Given the description of an element on the screen output the (x, y) to click on. 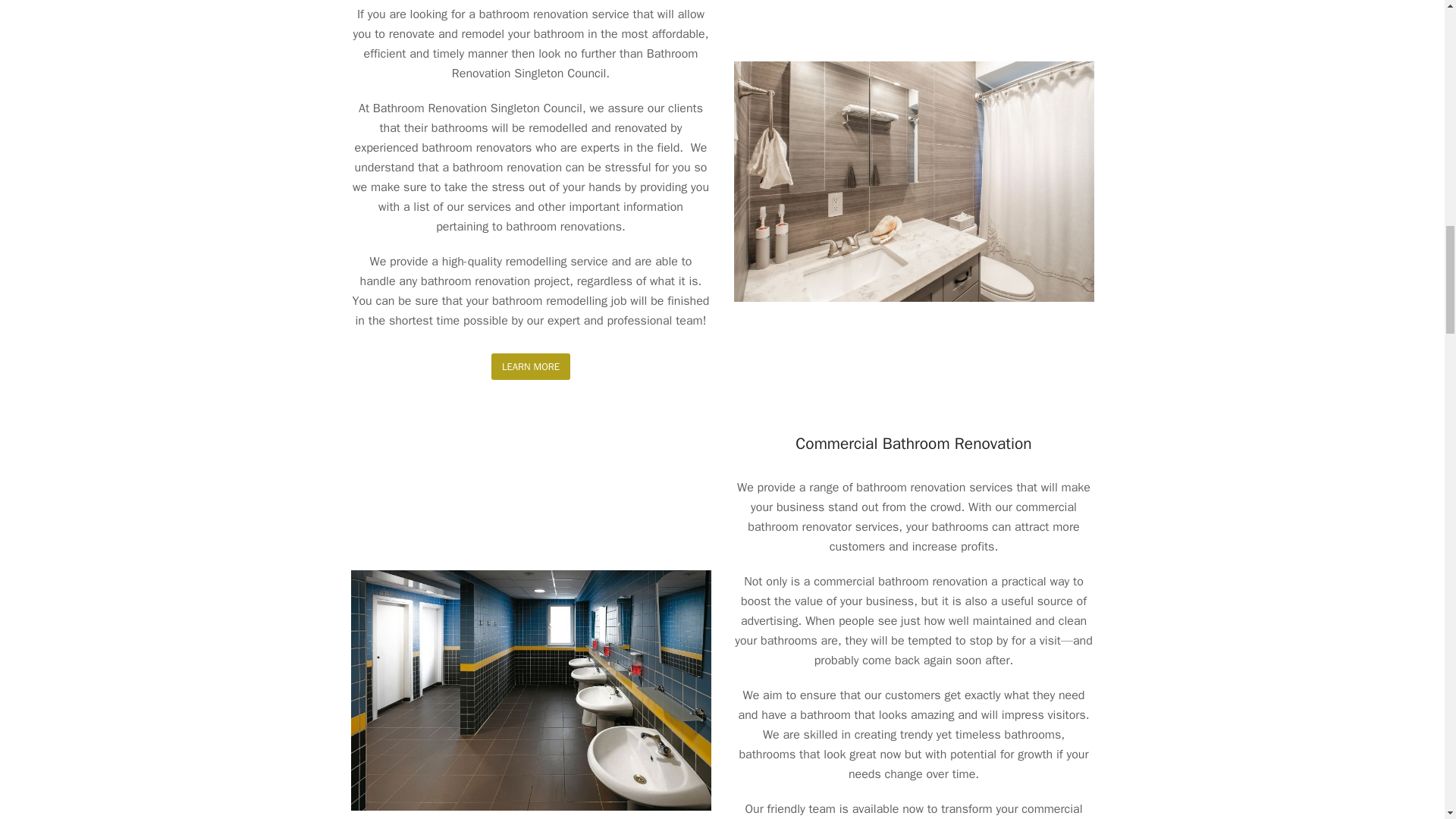
Learn more (531, 366)
new castlebathroom renovation (913, 181)
Bathroom Renovation West Lake Macquarie (530, 690)
